Given the description of an element on the screen output the (x, y) to click on. 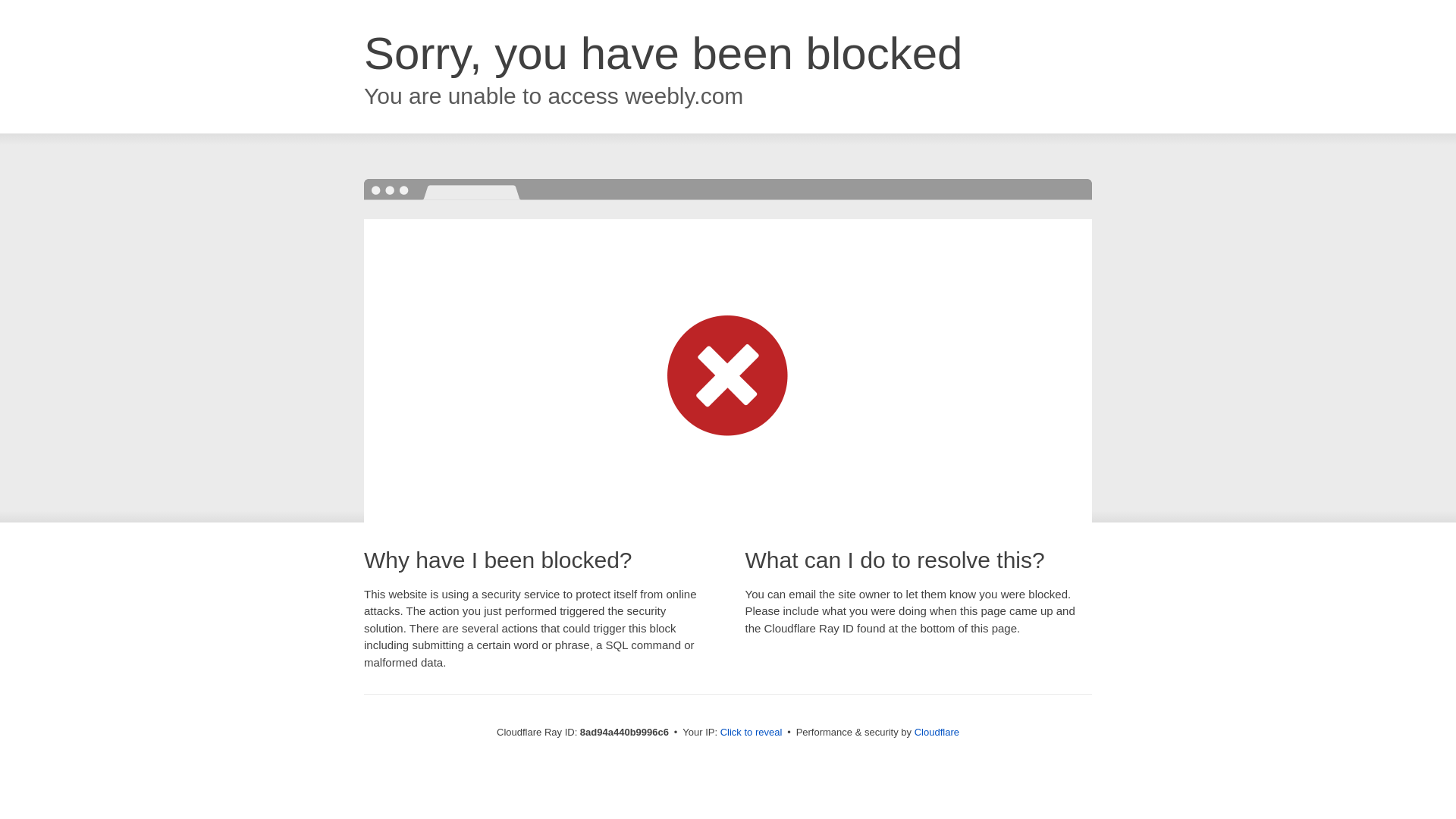
Cloudflare (936, 731)
Click to reveal (751, 732)
